Given the description of an element on the screen output the (x, y) to click on. 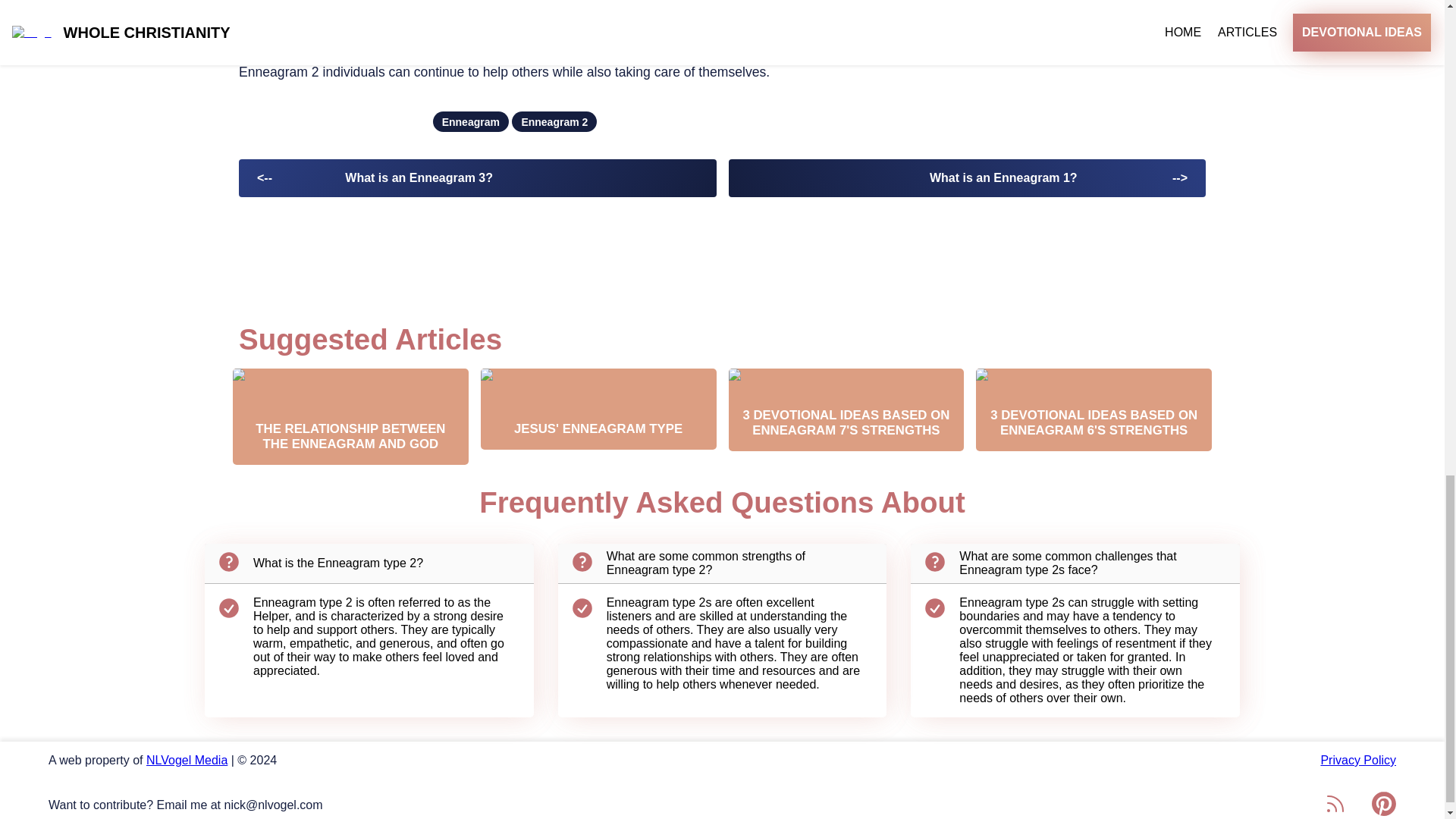
Enneagram (470, 121)
Pinterest (1383, 803)
THE RELATIONSHIP BETWEEN THE ENNEAGRAM AND GOD (350, 417)
NLVogel Media (187, 759)
3 DEVOTIONAL IDEAS BASED ON ENNEAGRAM 6'S STRENGTHS (1093, 410)
3 DEVOTIONAL IDEAS BASED ON ENNEAGRAM 7'S STRENGTHS (845, 410)
JESUS' ENNEAGRAM TYPE (598, 408)
Enneagram 2 (554, 121)
Privacy Policy (1060, 760)
